Given the description of an element on the screen output the (x, y) to click on. 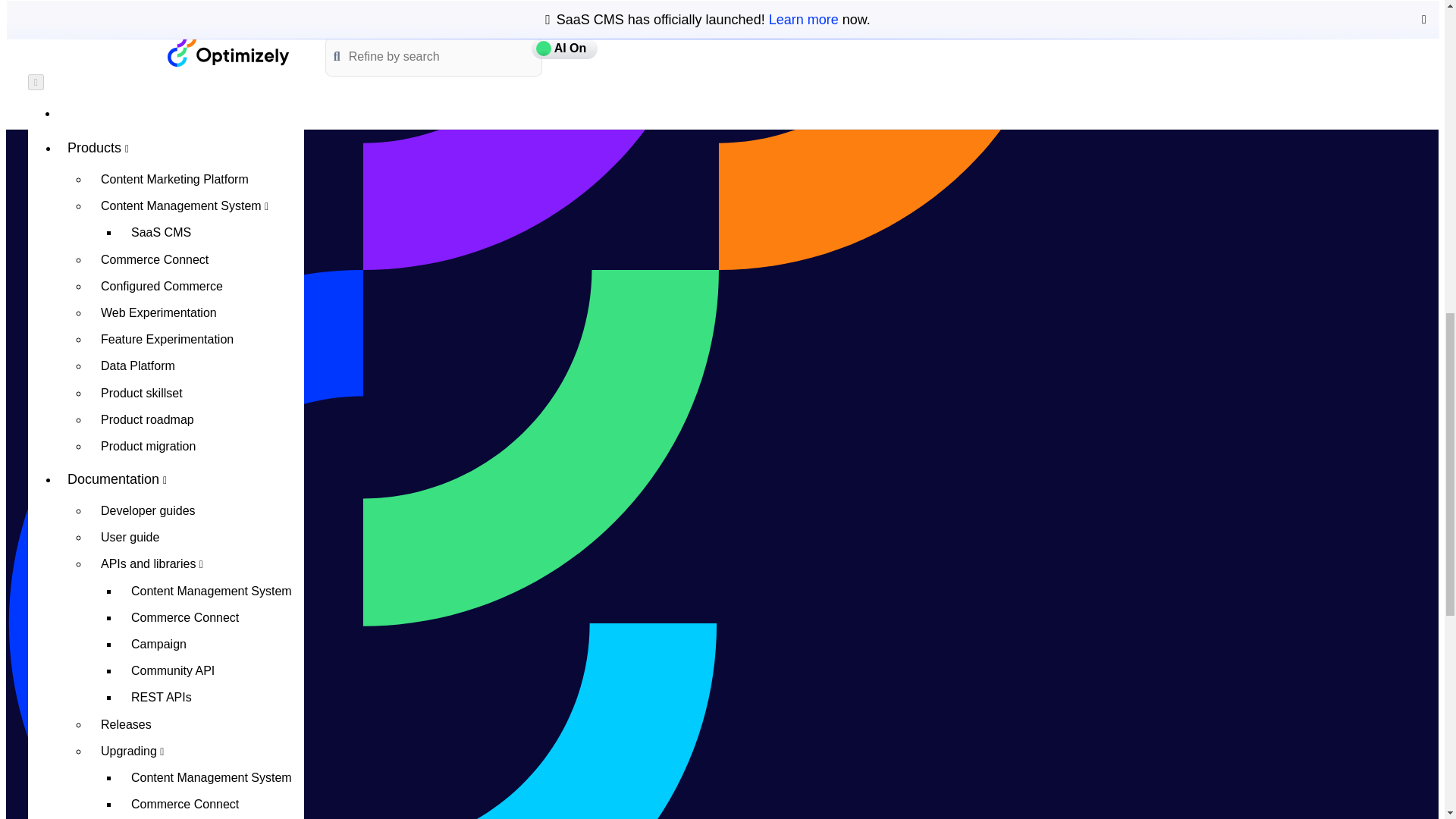
Personalization (211, 72)
Forms (211, 46)
Commerce Connect (211, 2)
Application and nomination (196, 270)
OMVPs (181, 132)
OMVP events (196, 216)
Benefits (196, 190)
Become a member (196, 163)
OMVP members (196, 243)
Digital badges (196, 297)
Service API (211, 99)
